Given the description of an element on the screen output the (x, y) to click on. 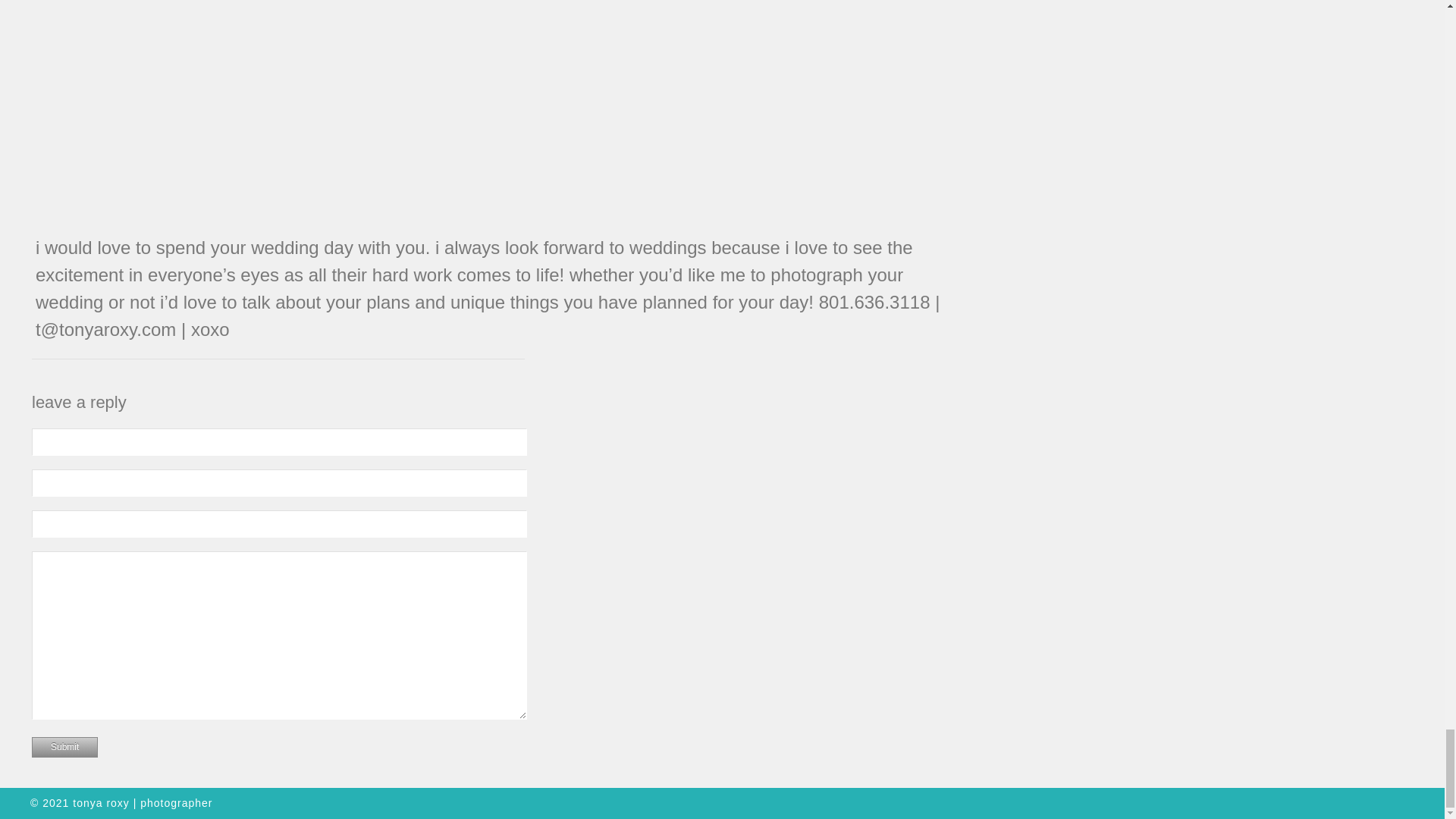
Submit (64, 747)
Submit (64, 747)
